Given the description of an element on the screen output the (x, y) to click on. 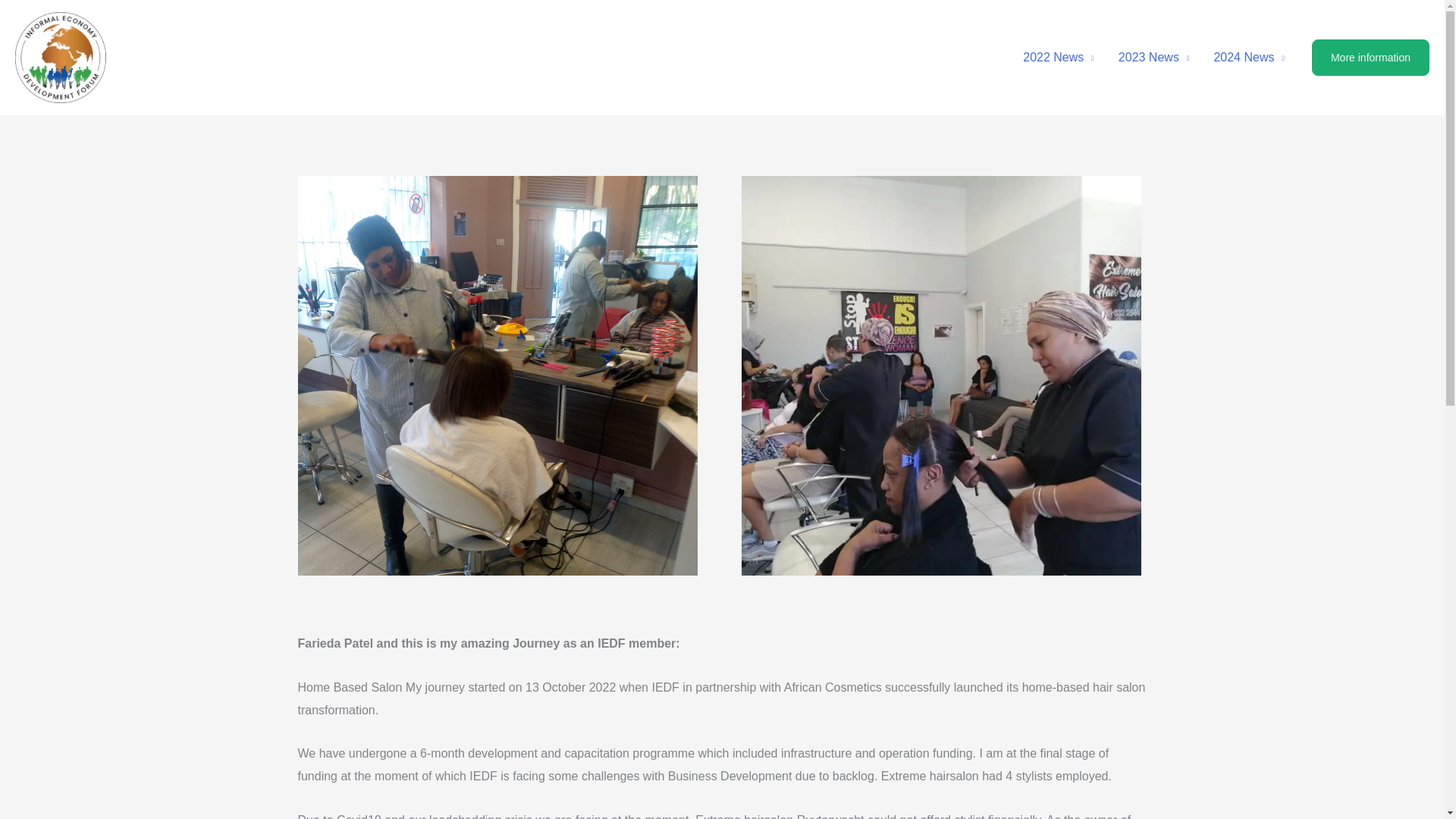
2023 News (1154, 57)
2024 News (1249, 57)
More information (1370, 57)
2022 News (1058, 57)
